Given the description of an element on the screen output the (x, y) to click on. 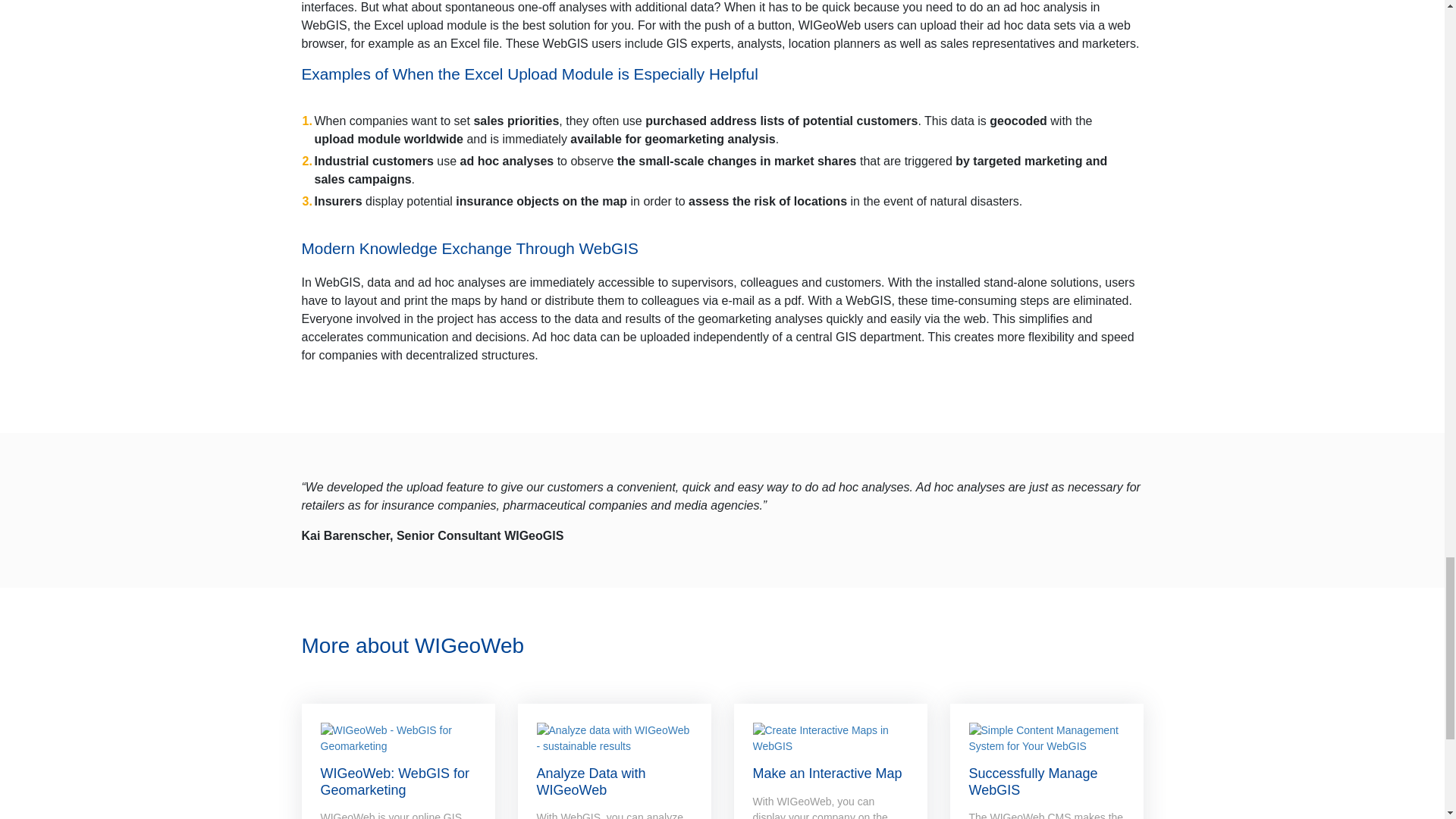
WIGeoWeb - WebGIS for Geomarketing - learn more (398, 738)
Create Interactive Maps in WebGIS  - learn more (829, 738)
